Given the description of an element on the screen output the (x, y) to click on. 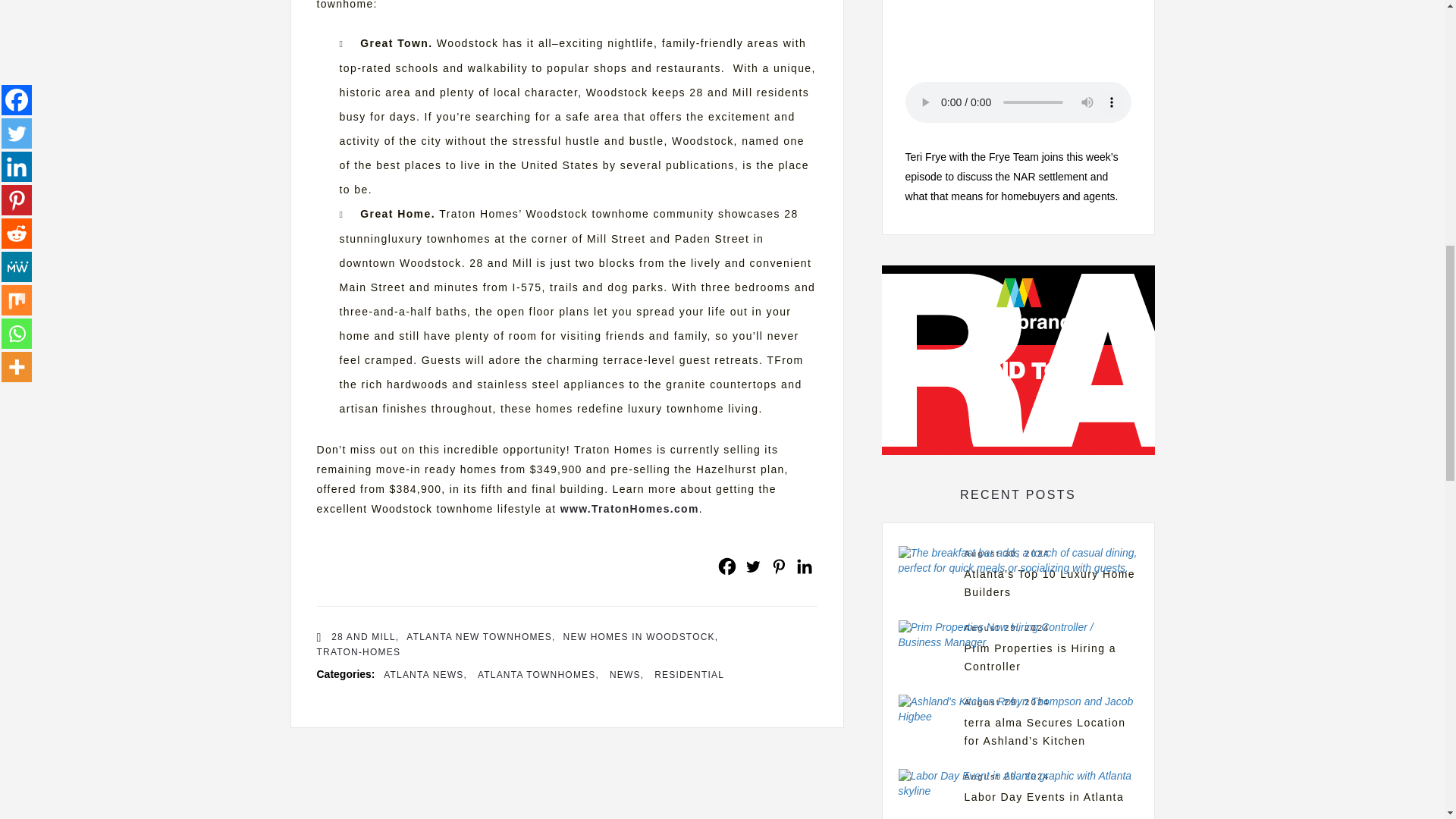
Facebook (727, 566)
NEW HOMES IN WOODSTOCK (641, 636)
28 AND MILL (364, 636)
NEWS (626, 675)
Twitter (752, 566)
Pinterest (778, 566)
ATLANTA NEWS (425, 675)
TRATON-HOMES (359, 652)
ATLANTA TOWNHOMES (537, 675)
Linkedin (804, 566)
